Given the description of an element on the screen output the (x, y) to click on. 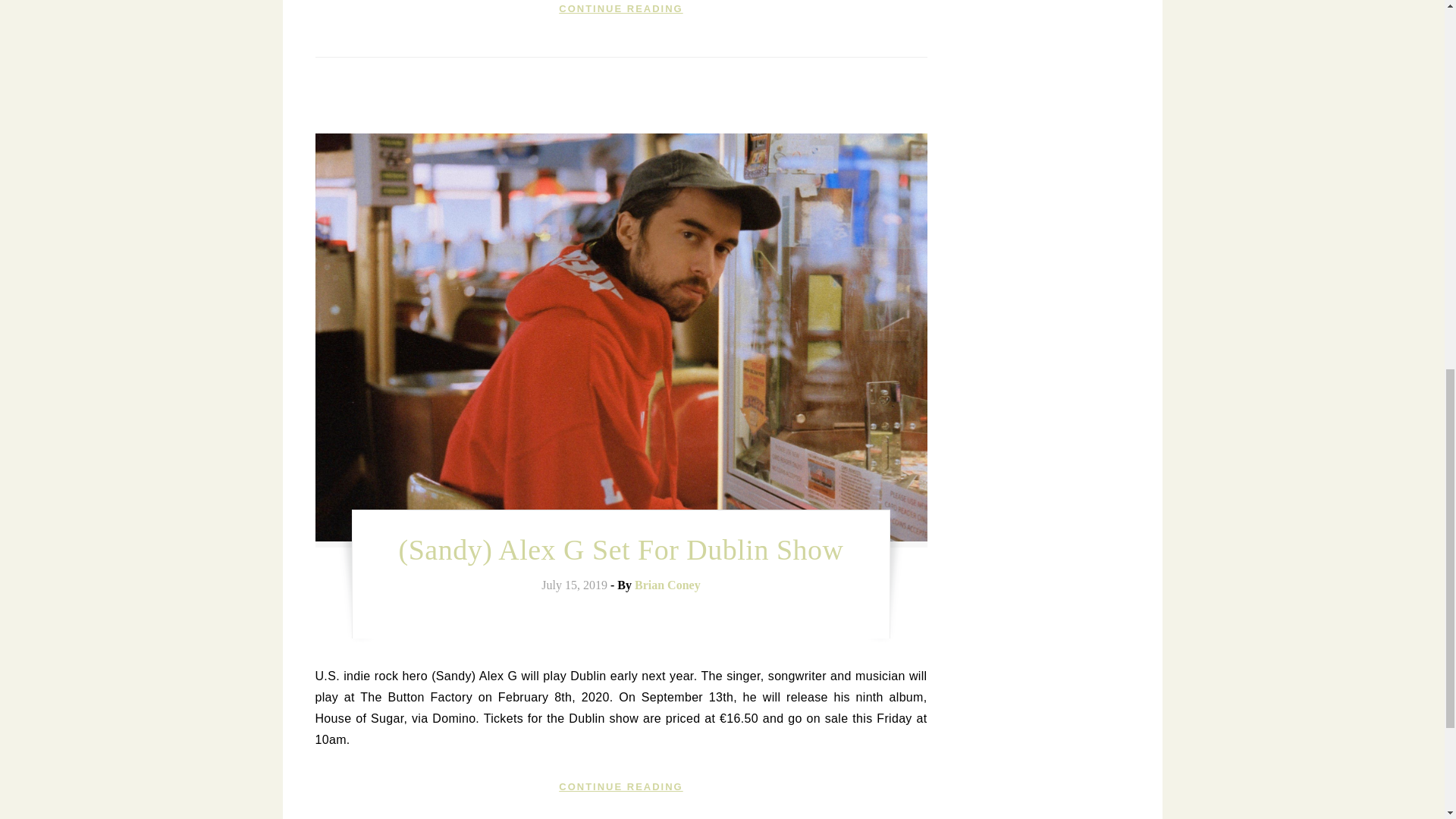
Posts by Brian Coney (667, 584)
